Given the description of an element on the screen output the (x, y) to click on. 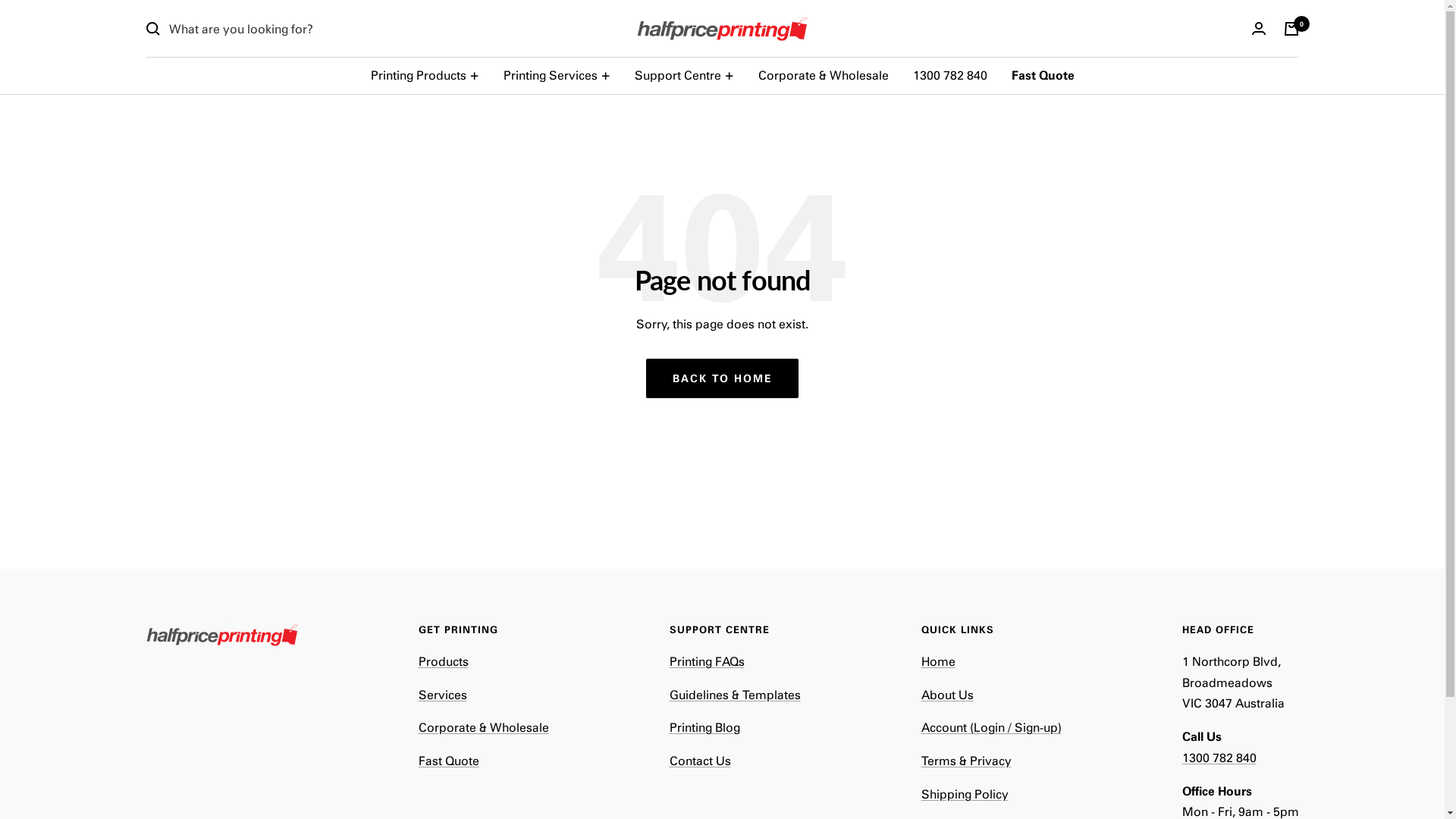
Account (Login / Sign-up) Element type: text (990, 726)
BACK TO HOME Element type: text (722, 378)
Services Element type: text (442, 694)
Printing FAQs Element type: text (705, 660)
Fast Quote Element type: text (448, 760)
Guidelines & Templates Element type: text (734, 694)
1300 782 840 Element type: text (950, 74)
Half Price Printing Element type: text (722, 27)
Terms & Privacy Element type: text (965, 760)
Fast Quote Element type: text (1042, 74)
0 Element type: text (1290, 28)
About Us Element type: text (946, 694)
Printing Blog Element type: text (703, 726)
Products Element type: text (443, 660)
Corporate & Wholesale Element type: text (823, 74)
Printing Products + Element type: text (424, 74)
Printing Services + Element type: text (556, 74)
Shipping Policy Element type: text (963, 793)
Home Element type: text (937, 660)
1300 782 840 Element type: text (1218, 757)
Corporate & Wholesale Element type: text (483, 726)
Contact Us Element type: text (699, 760)
Support Centre + Element type: text (683, 74)
